Given the description of an element on the screen output the (x, y) to click on. 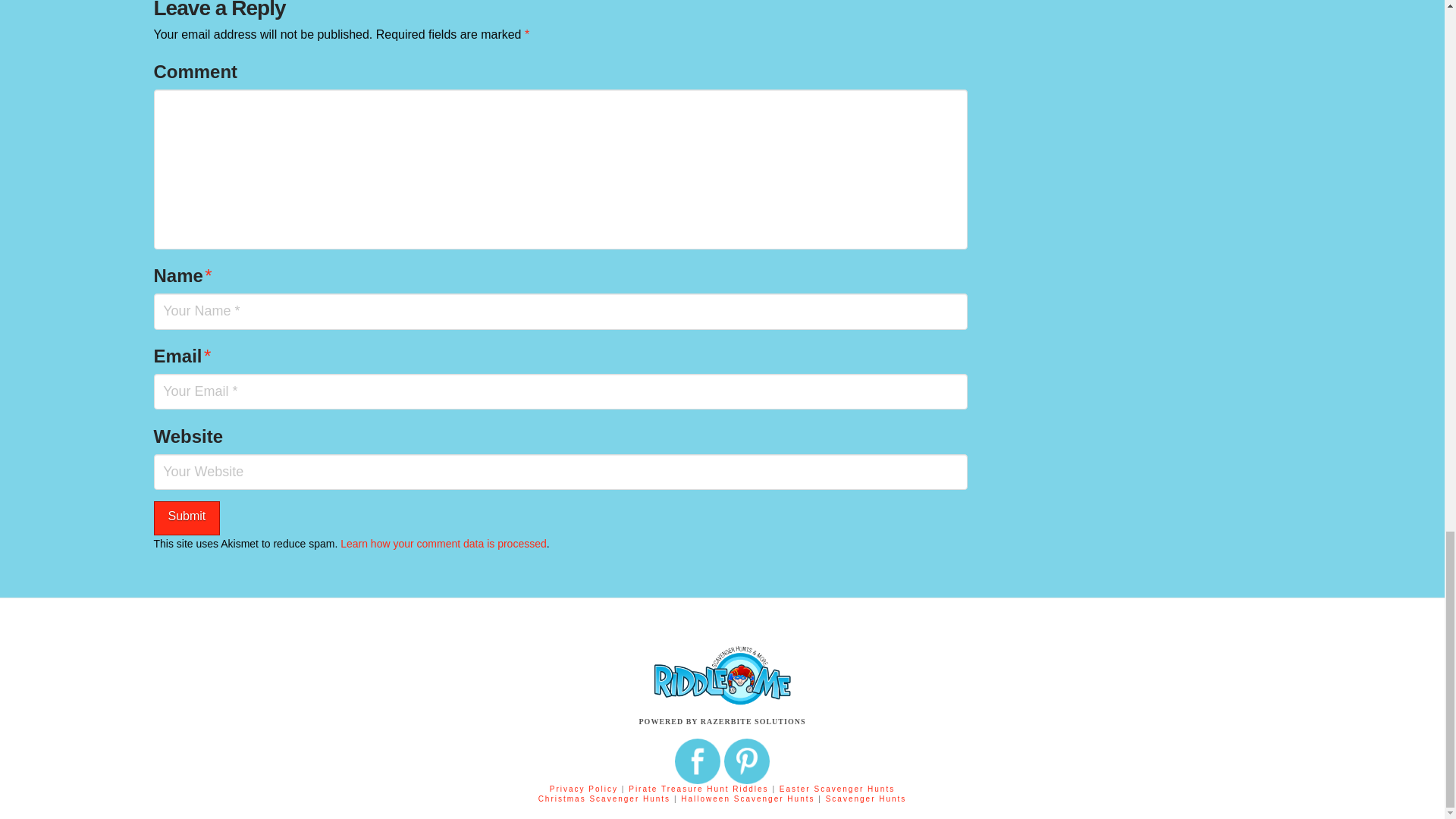
Scavenger Hunts (866, 798)
Submit (185, 518)
Submit (185, 518)
Learn how your comment data is processed (443, 543)
Christmas Scavenger Hunts (606, 798)
Easter Scavenger Hunts (836, 788)
Halloween Scavenger Hunts (749, 798)
Privacy Policy (583, 788)
Pirate Treasure Hunt Riddles (699, 788)
